Given the description of an element on the screen output the (x, y) to click on. 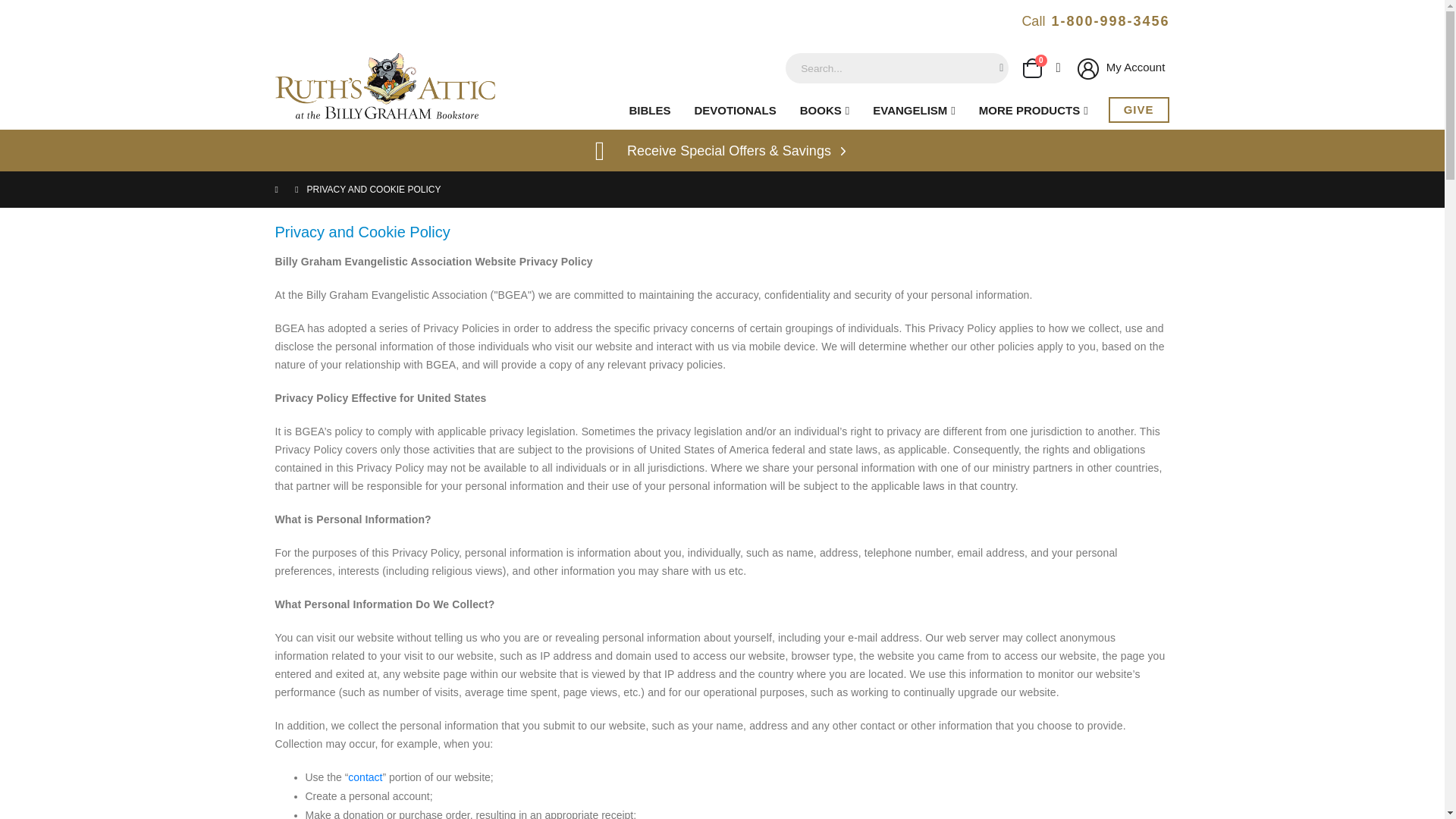
Ruths Attic at the Billy Graham Bookstore (385, 88)
DEVOTIONALS (730, 109)
More Products (1029, 109)
GIVE (1138, 109)
BOOKS (820, 109)
Evangelism (909, 109)
MORE PRODUCTS (1029, 109)
contact (364, 776)
My Account (1119, 66)
Books (820, 109)
